Given the description of an element on the screen output the (x, y) to click on. 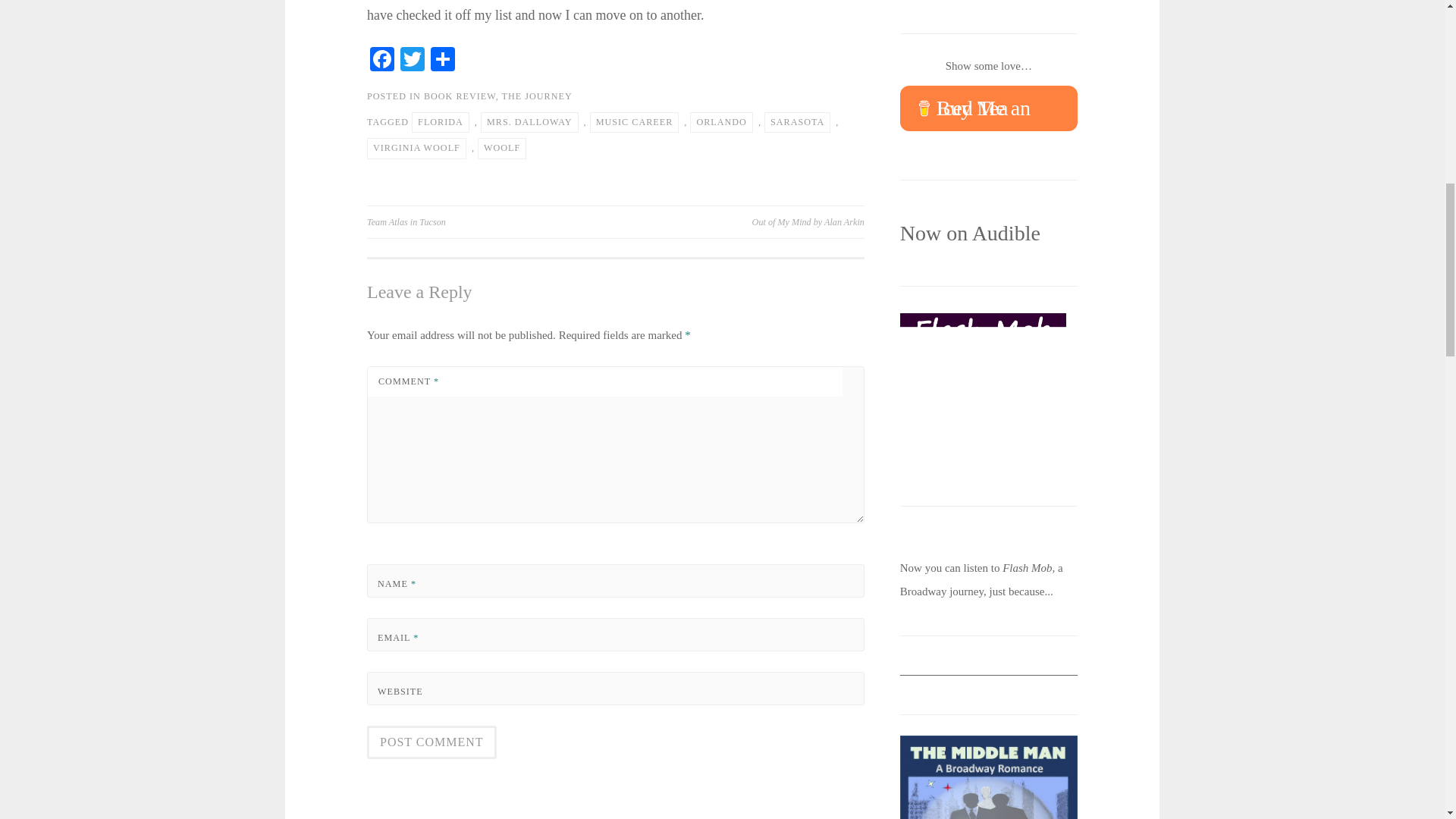
Facebook (381, 60)
Post Comment (431, 742)
Twitter (412, 60)
Twitter (412, 60)
Facebook (381, 60)
